Given the description of an element on the screen output the (x, y) to click on. 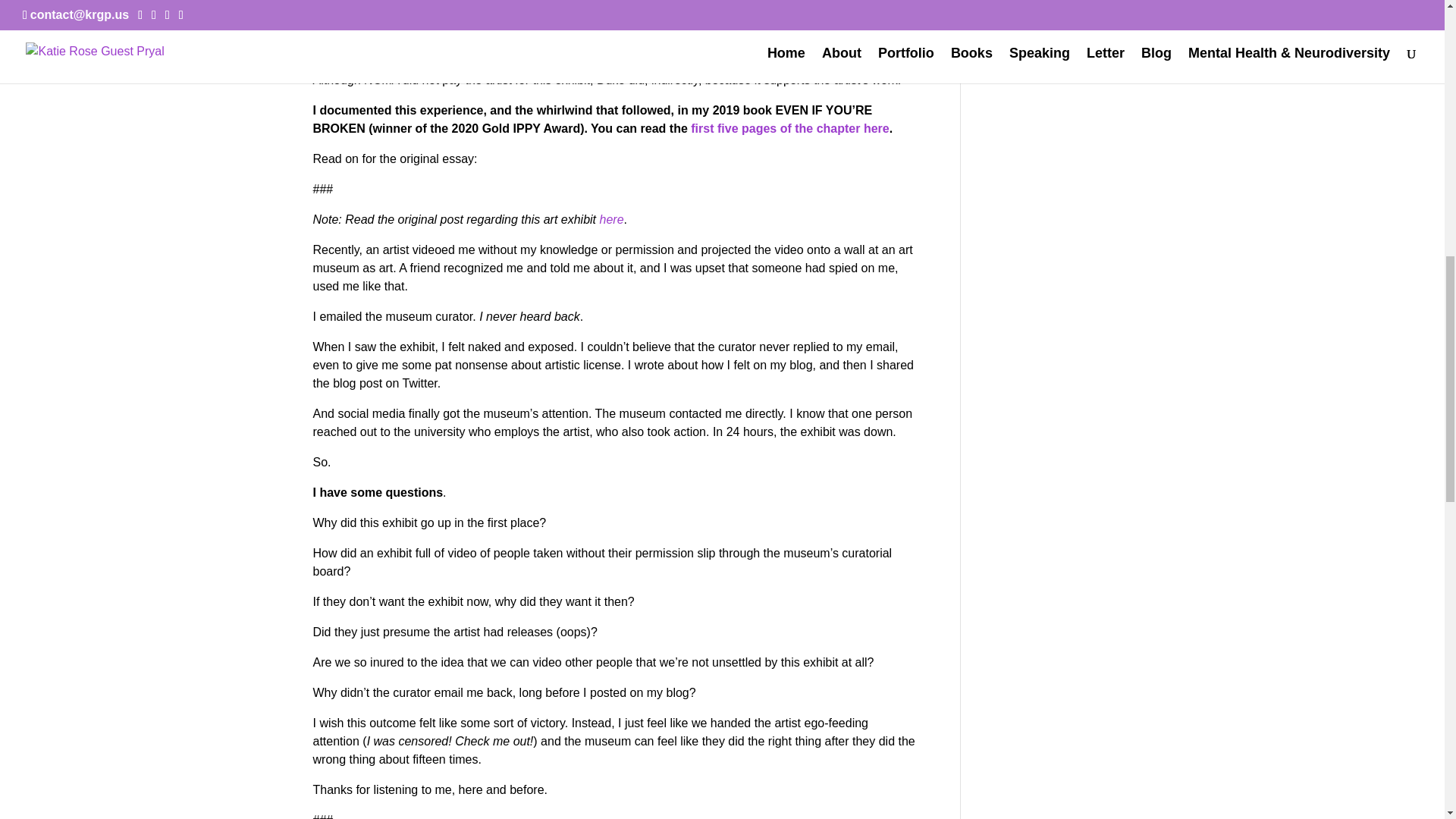
here (610, 219)
first five pages of the chapter here (789, 128)
